Given the description of an element on the screen output the (x, y) to click on. 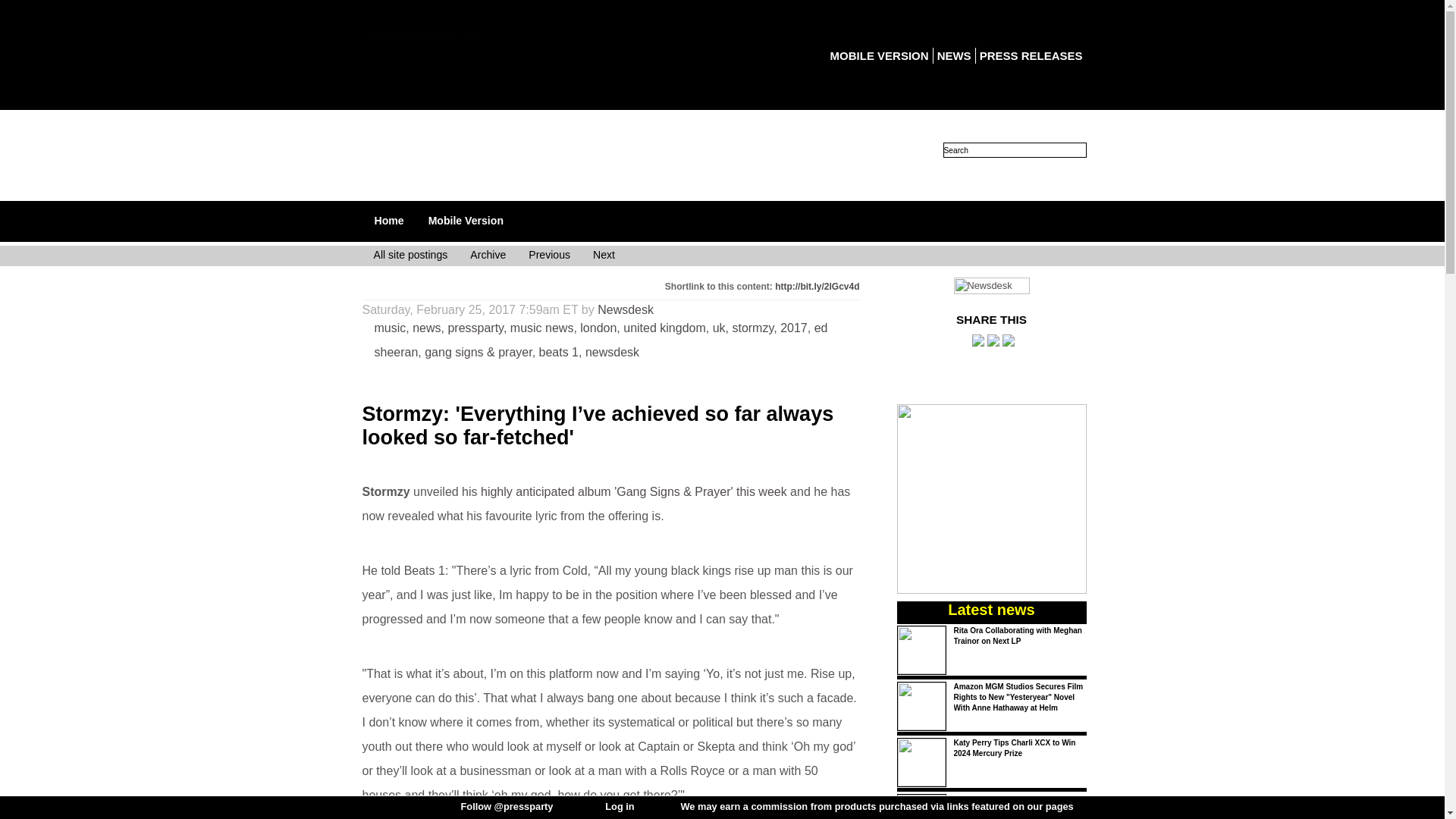
Archive (488, 255)
Search (1014, 150)
Newsdesk (991, 287)
Search (1014, 150)
newsdesk (612, 351)
uk (719, 327)
music (390, 327)
london (597, 327)
MOBILE VERSION (878, 55)
united kingdom (664, 327)
